Given the description of an element on the screen output the (x, y) to click on. 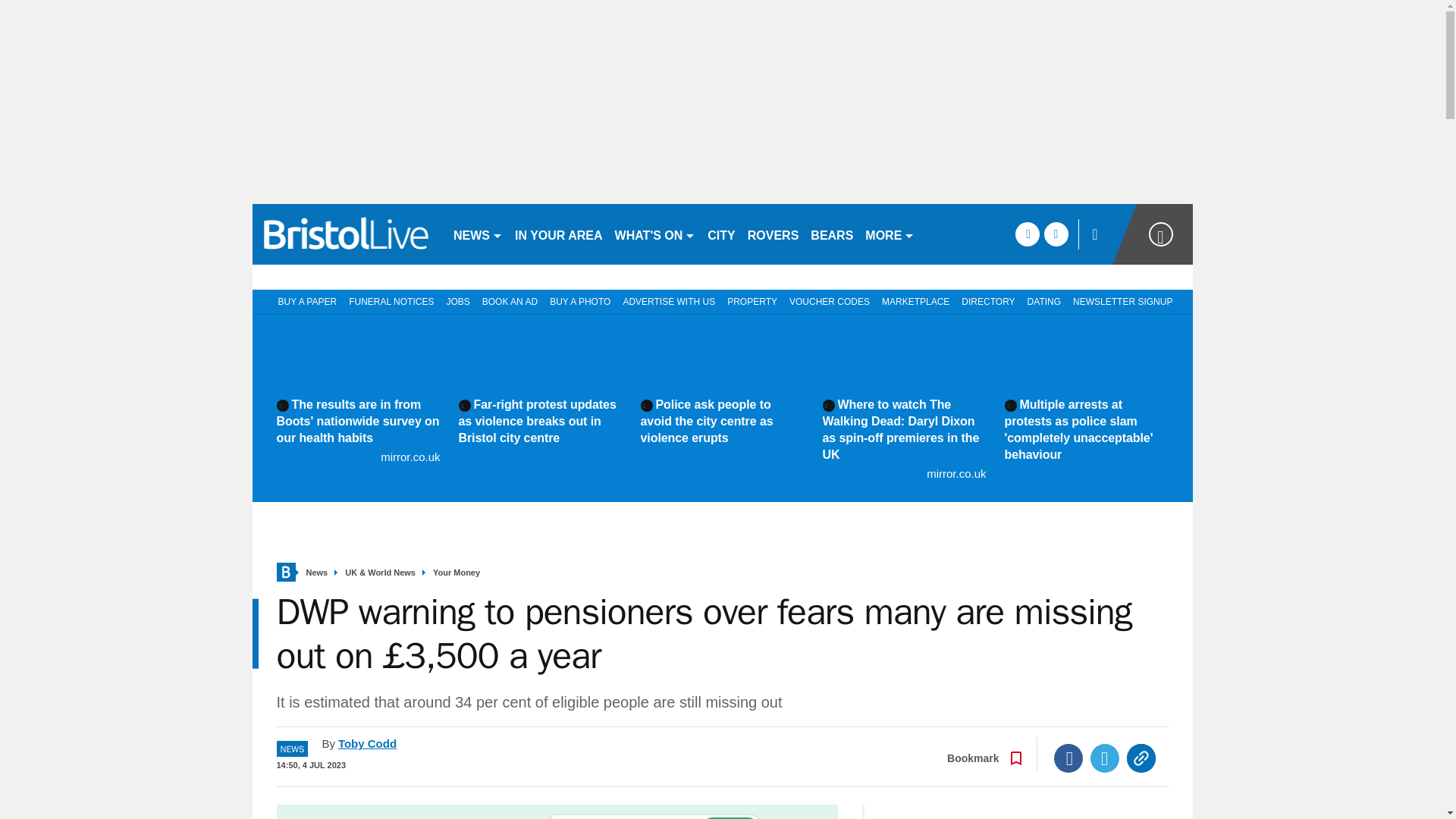
BEARS (832, 233)
Twitter (1104, 758)
Facebook (1068, 758)
twitter (1055, 233)
NEWS (477, 233)
Go (730, 818)
ROVERS (773, 233)
WHAT'S ON (654, 233)
bristolpost (345, 233)
IN YOUR AREA (558, 233)
facebook (1026, 233)
MORE (889, 233)
